Given the description of an element on the screen output the (x, y) to click on. 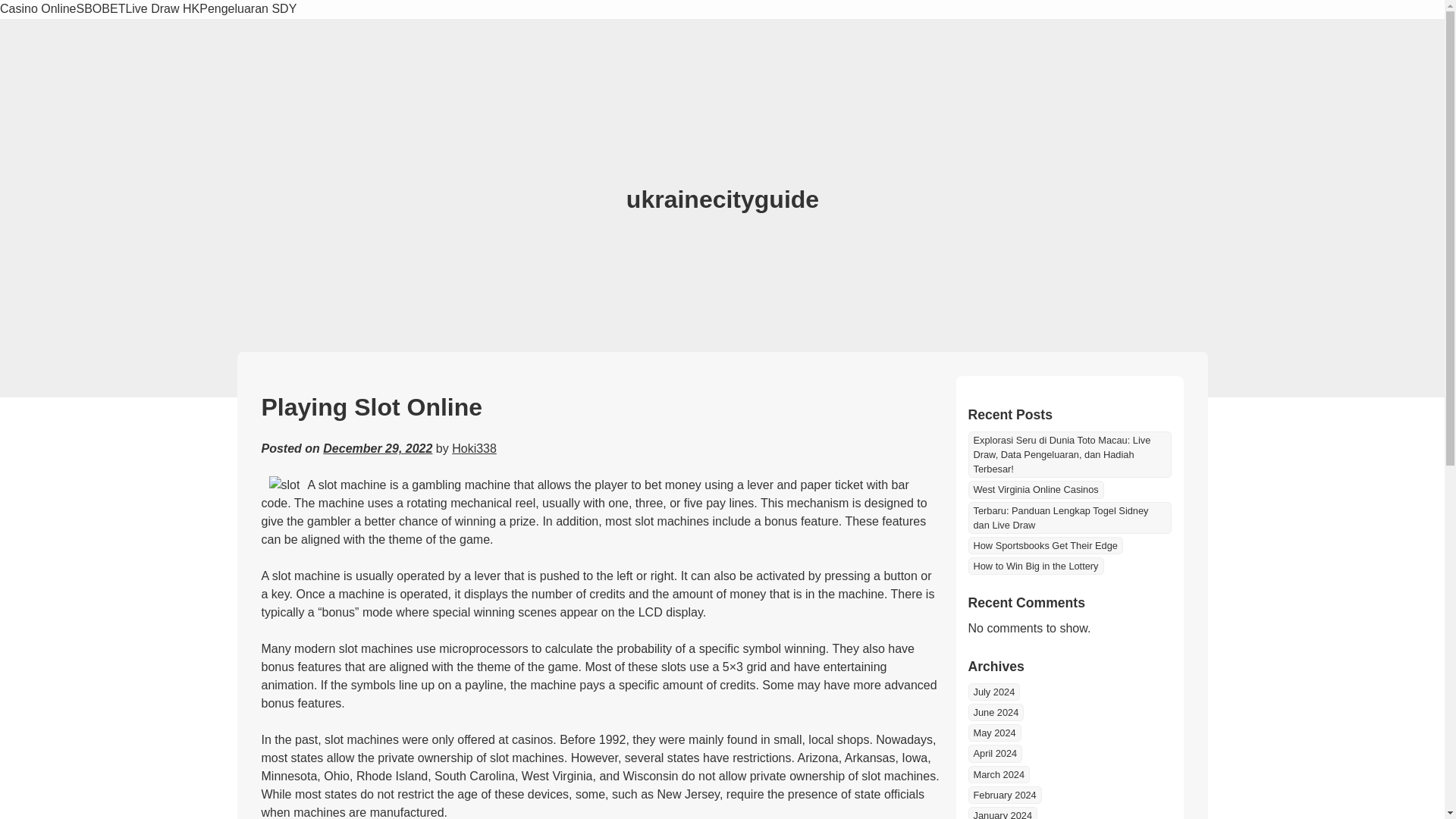
Terbaru: Panduan Lengkap Togel Sidney dan Live Draw (1069, 517)
Pengeluaran SDY (248, 9)
January 2024 (1002, 812)
May 2024 (994, 732)
June 2024 (995, 712)
April 2024 (995, 753)
How to Win Big in the Lottery (1035, 565)
Casino Online (38, 9)
February 2024 (1004, 794)
December 29, 2022 (377, 448)
Live Draw HK (162, 9)
West Virginia Online Casinos (1035, 488)
Hoki338 (473, 448)
July 2024 (994, 692)
